Given the description of an element on the screen output the (x, y) to click on. 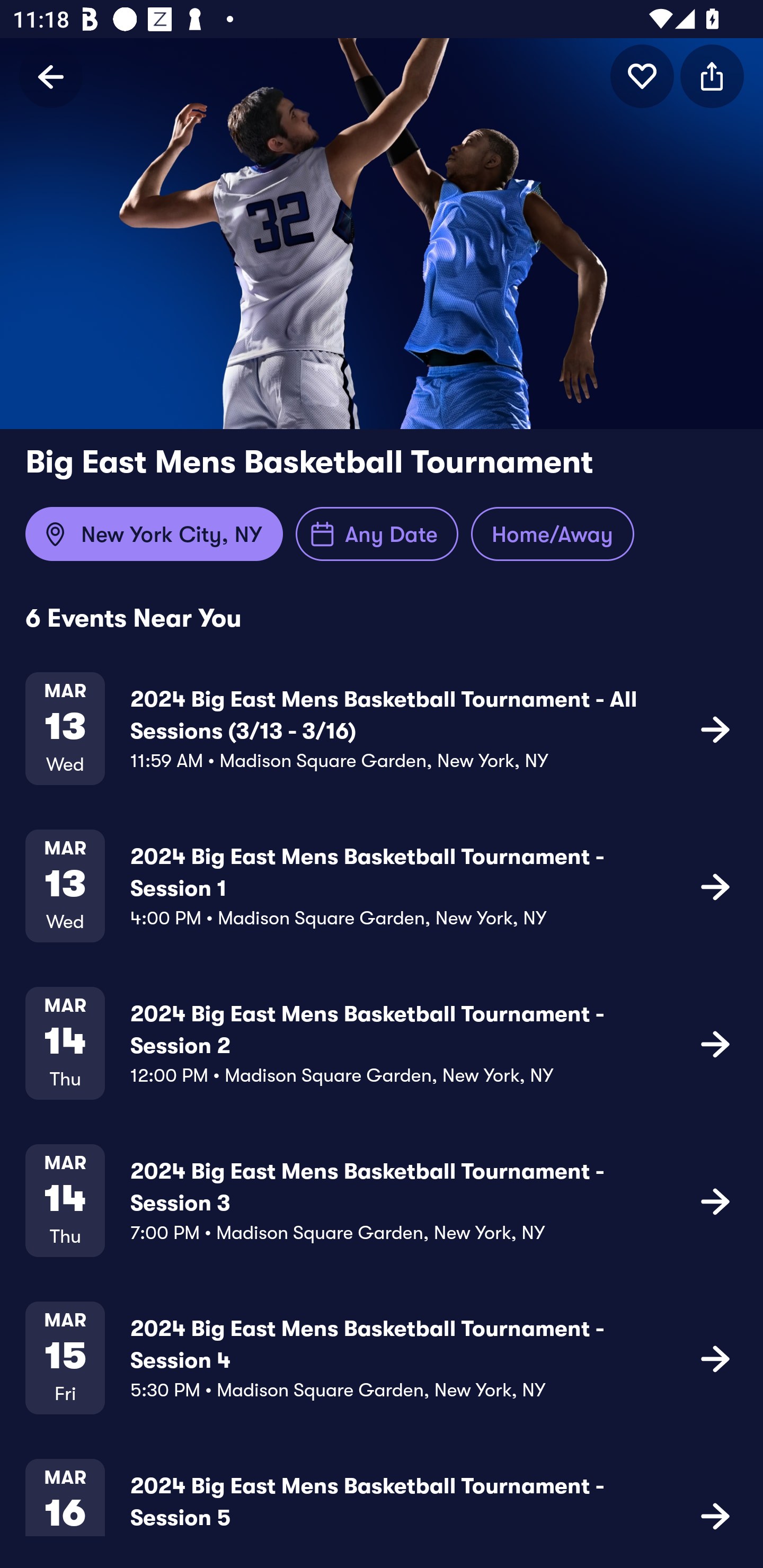
Back (50, 75)
icon button (641, 75)
icon button (711, 75)
New York City, NY (153, 533)
Any Date (377, 533)
Home/Away (552, 533)
icon button (714, 729)
icon button (714, 885)
icon button (714, 1043)
icon button (714, 1201)
icon button (714, 1357)
icon button (714, 1514)
